Given the description of an element on the screen output the (x, y) to click on. 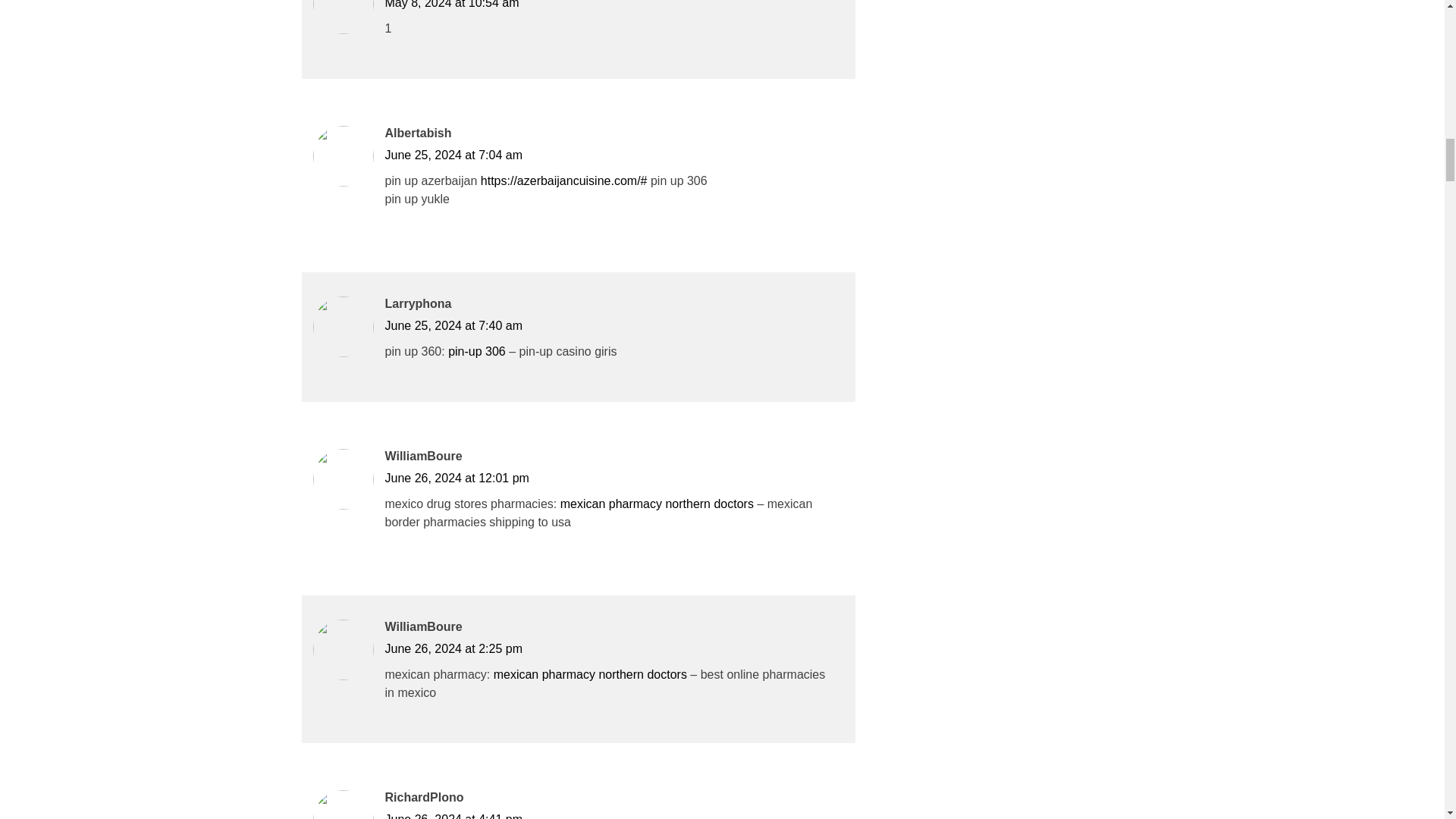
June 25, 2024 at 7:04 am (453, 154)
mexican pharmacy northern doctors (657, 503)
June 26, 2024 at 2:25 pm (453, 648)
pin-up 306 (476, 350)
June 26, 2024 at 12:01 pm (457, 477)
June 25, 2024 at 7:40 am (453, 325)
June 26, 2024 at 4:41 pm (453, 816)
mexican pharmacy northern doctors (590, 674)
May 8, 2024 at 10:54 am (452, 4)
